Given the description of an element on the screen output the (x, y) to click on. 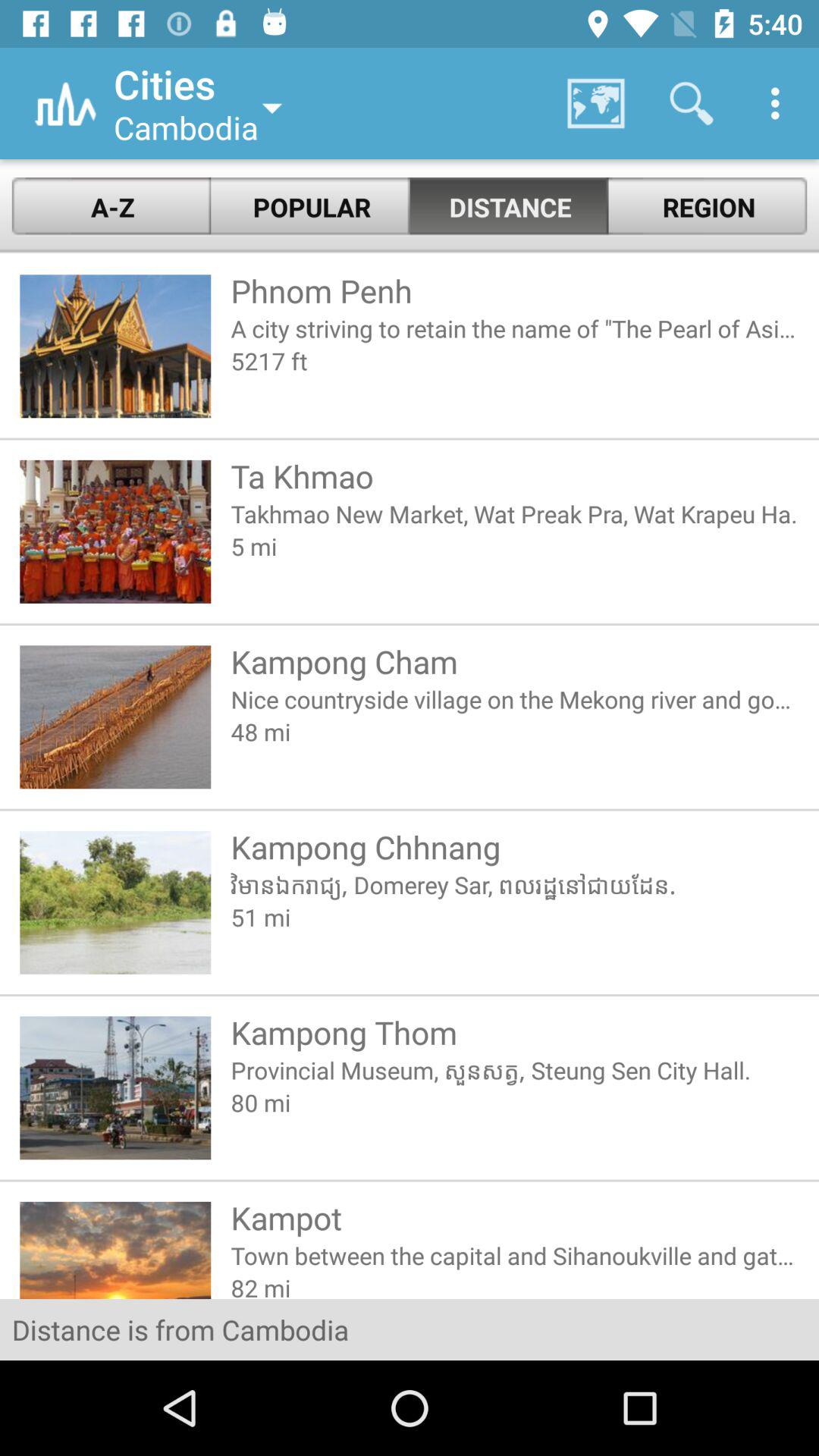
jump until popular (310, 206)
